Given the description of an element on the screen output the (x, y) to click on. 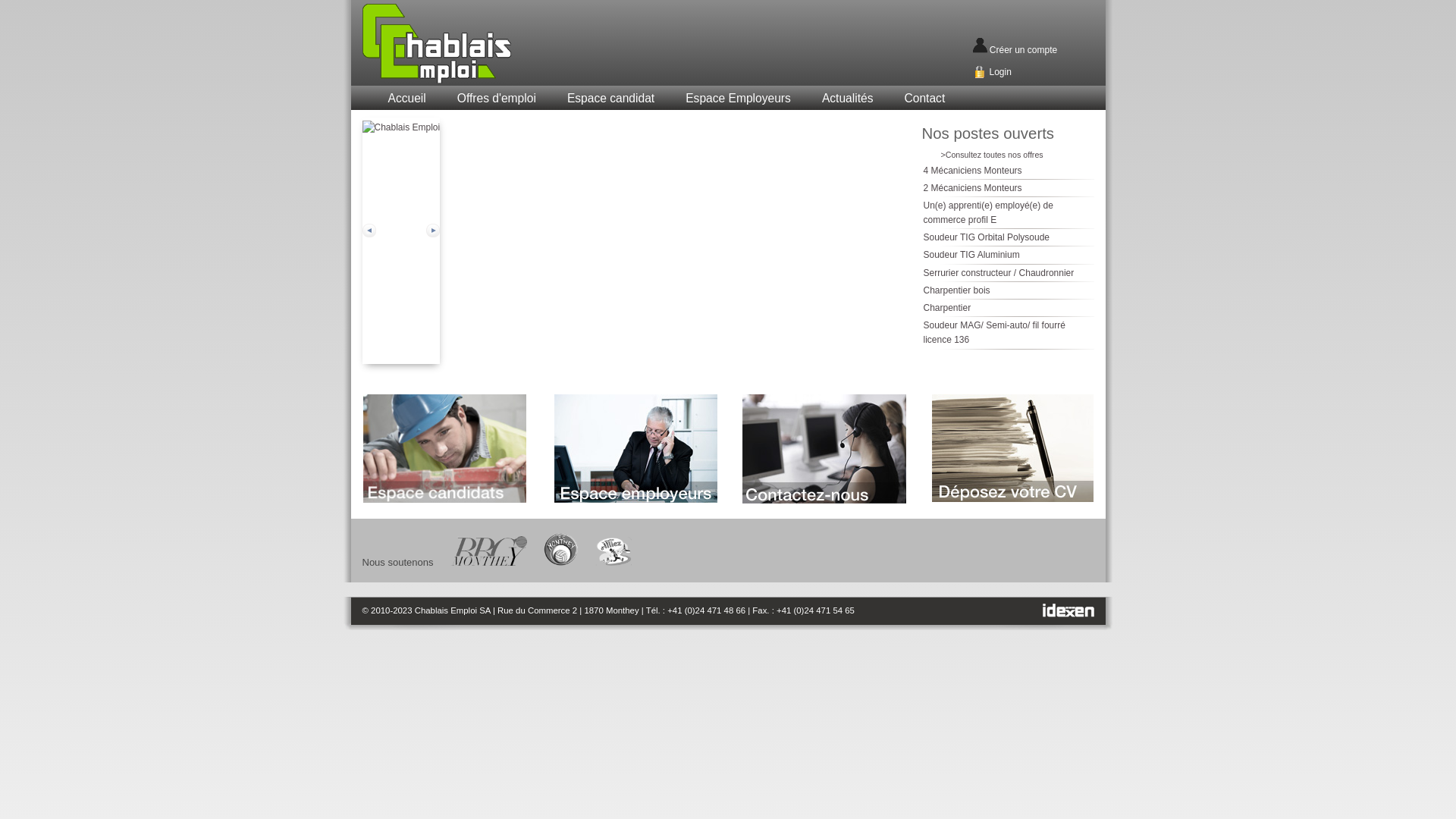
Accueil Element type: text (406, 98)
Espace Employeurs Element type: text (738, 98)
Espace candidat Element type: text (610, 98)
>Consultez toutes nos offres Element type: text (991, 154)
Charpentier bois Element type: text (956, 290)
Chablais Emploi SA - Votre partenaire fixe et temporaire Element type: hover (473, 43)
Contact Element type: text (924, 98)
Offres d'emploi Element type: text (496, 98)
Soudeur TIG Orbital Polysoude Element type: text (986, 237)
Serrurier constructeur / Chaudronnier Element type: text (998, 272)
Login Element type: text (999, 71)
Charpentier Element type: text (947, 307)
Soudeur TIG Aluminium Element type: text (971, 254)
